Given the description of an element on the screen output the (x, y) to click on. 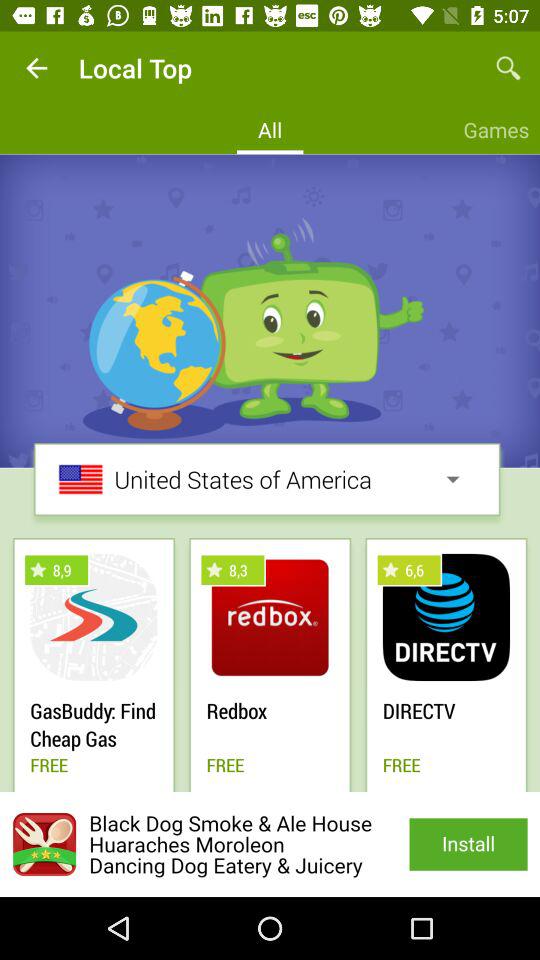
view advertisement (270, 844)
